Given the description of an element on the screen output the (x, y) to click on. 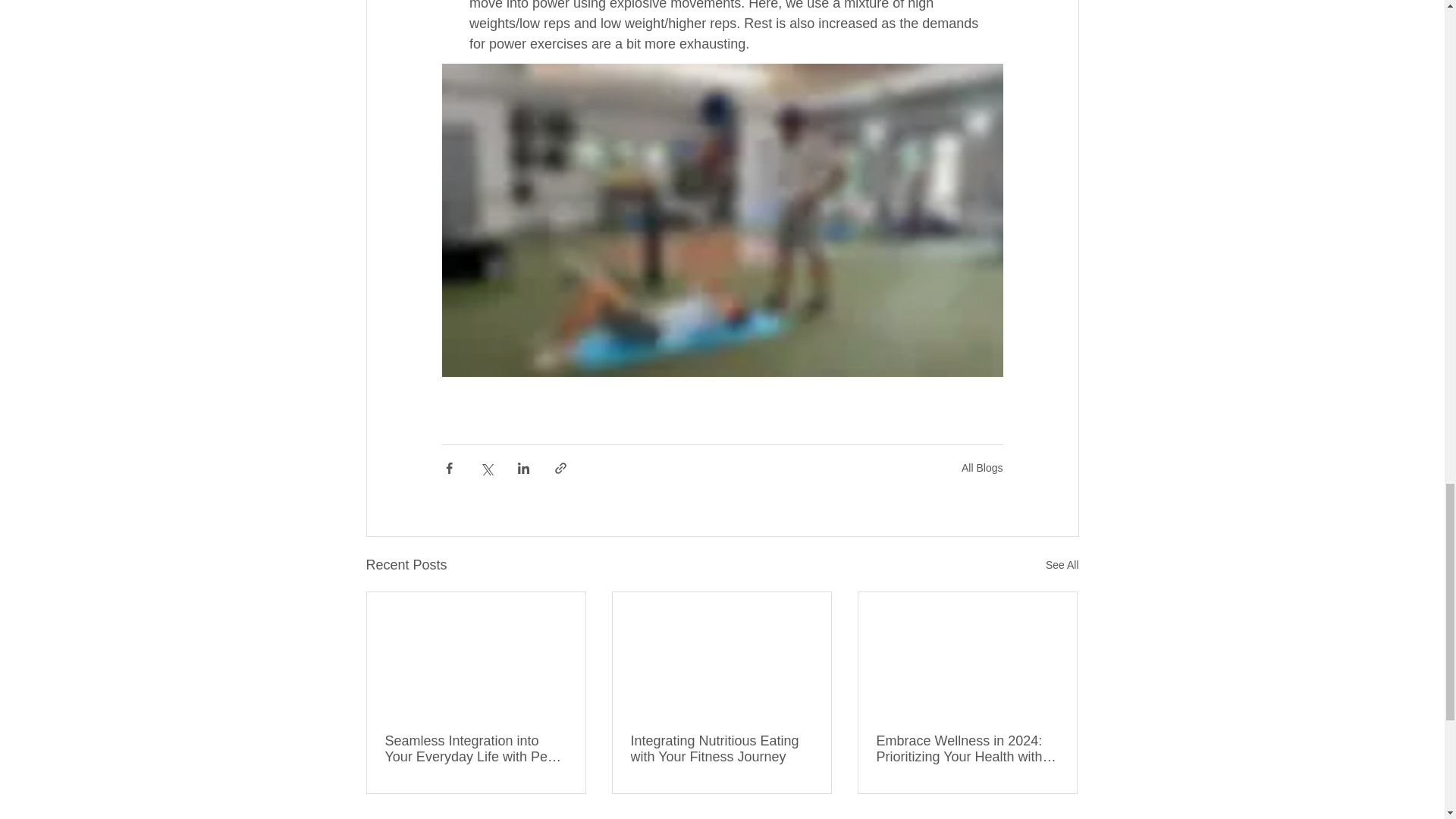
See All (1061, 565)
All Blogs (981, 467)
Integrating Nutritious Eating with Your Fitness Journey (721, 748)
